Given the description of an element on the screen output the (x, y) to click on. 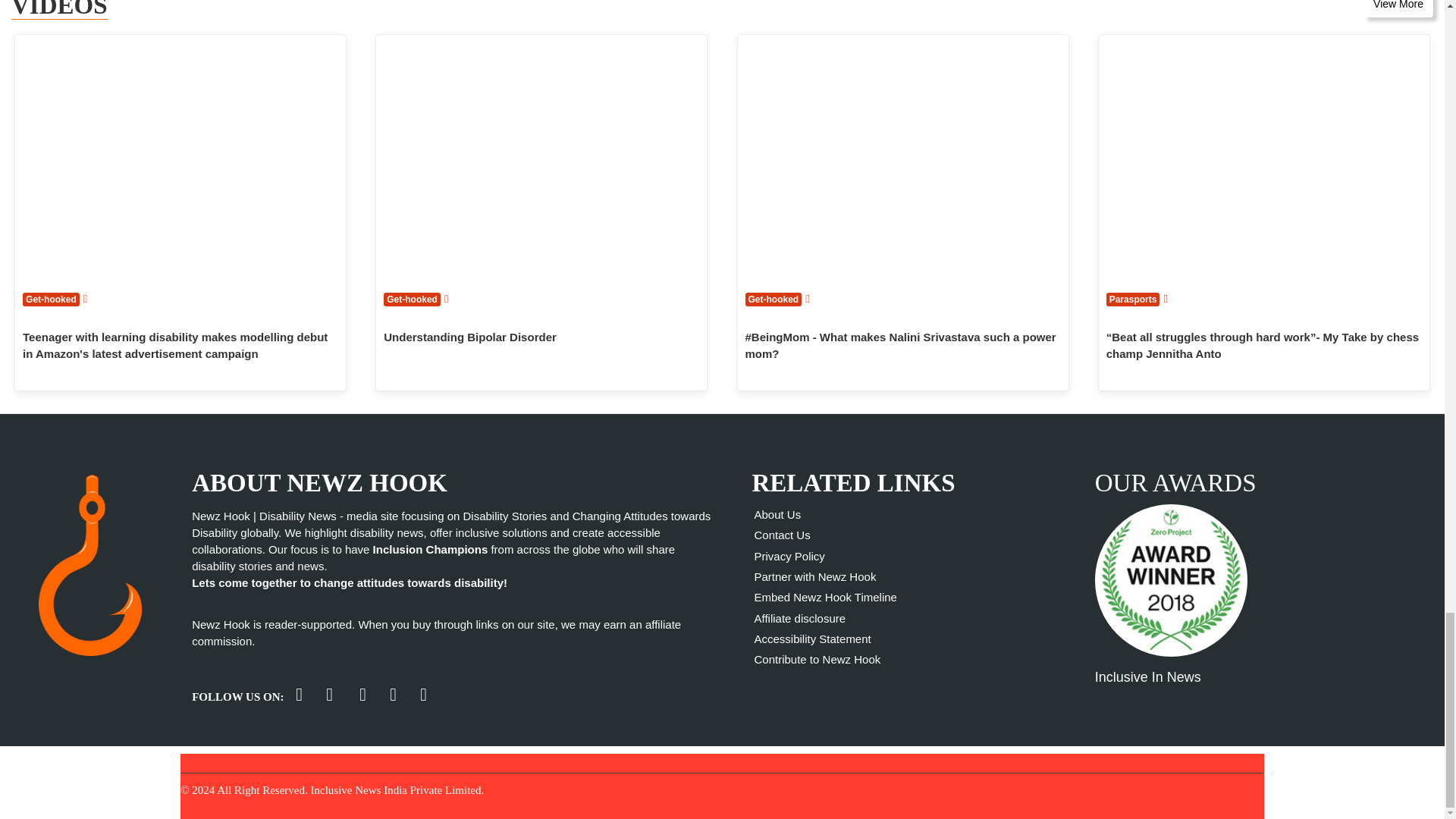
Newz Hook on Twitter (298, 694)
Understanding Bipolar Disorder (540, 158)
